Given the description of an element on the screen output the (x, y) to click on. 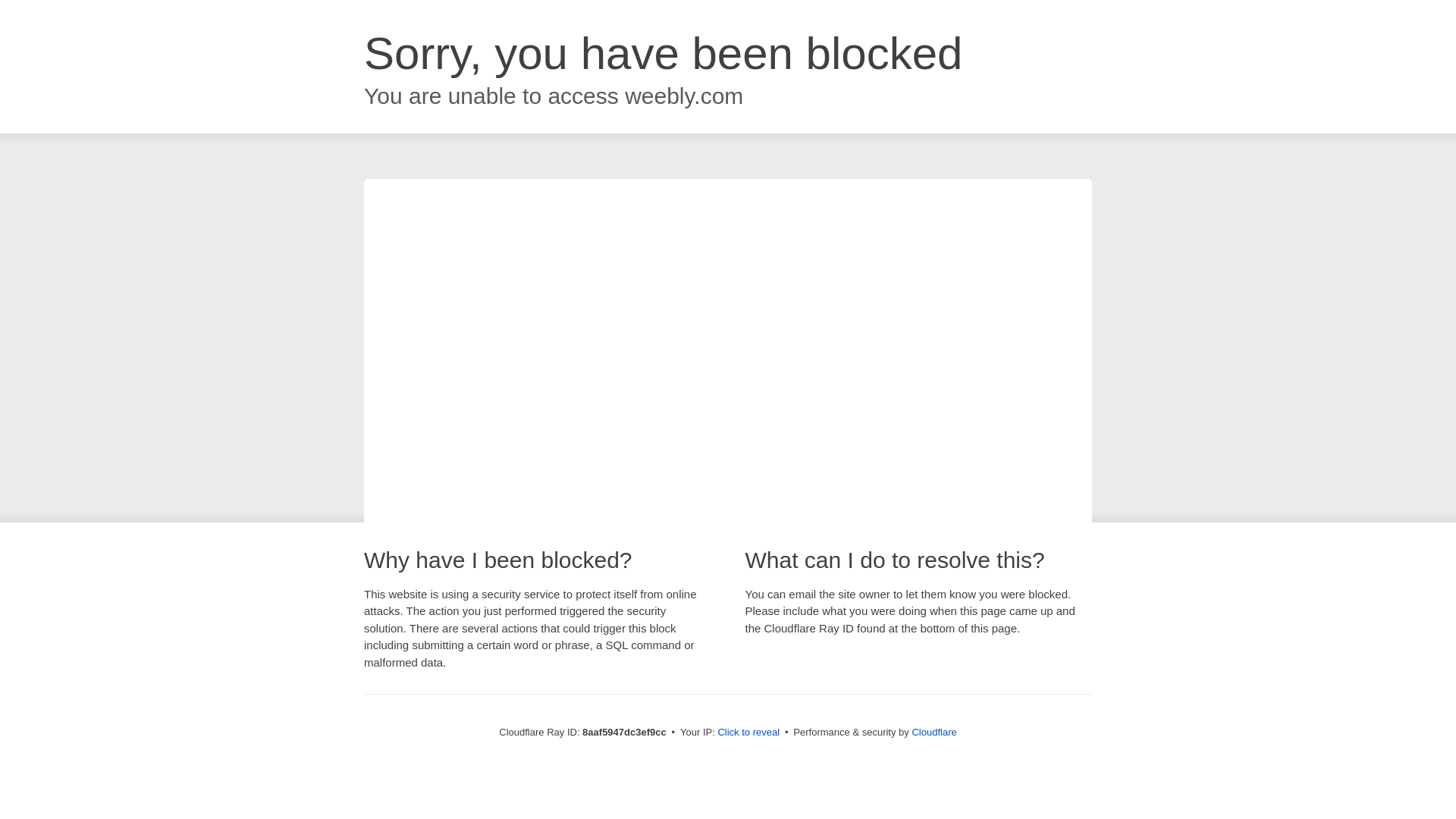
Cloudflare (933, 731)
Click to reveal (747, 732)
